Given the description of an element on the screen output the (x, y) to click on. 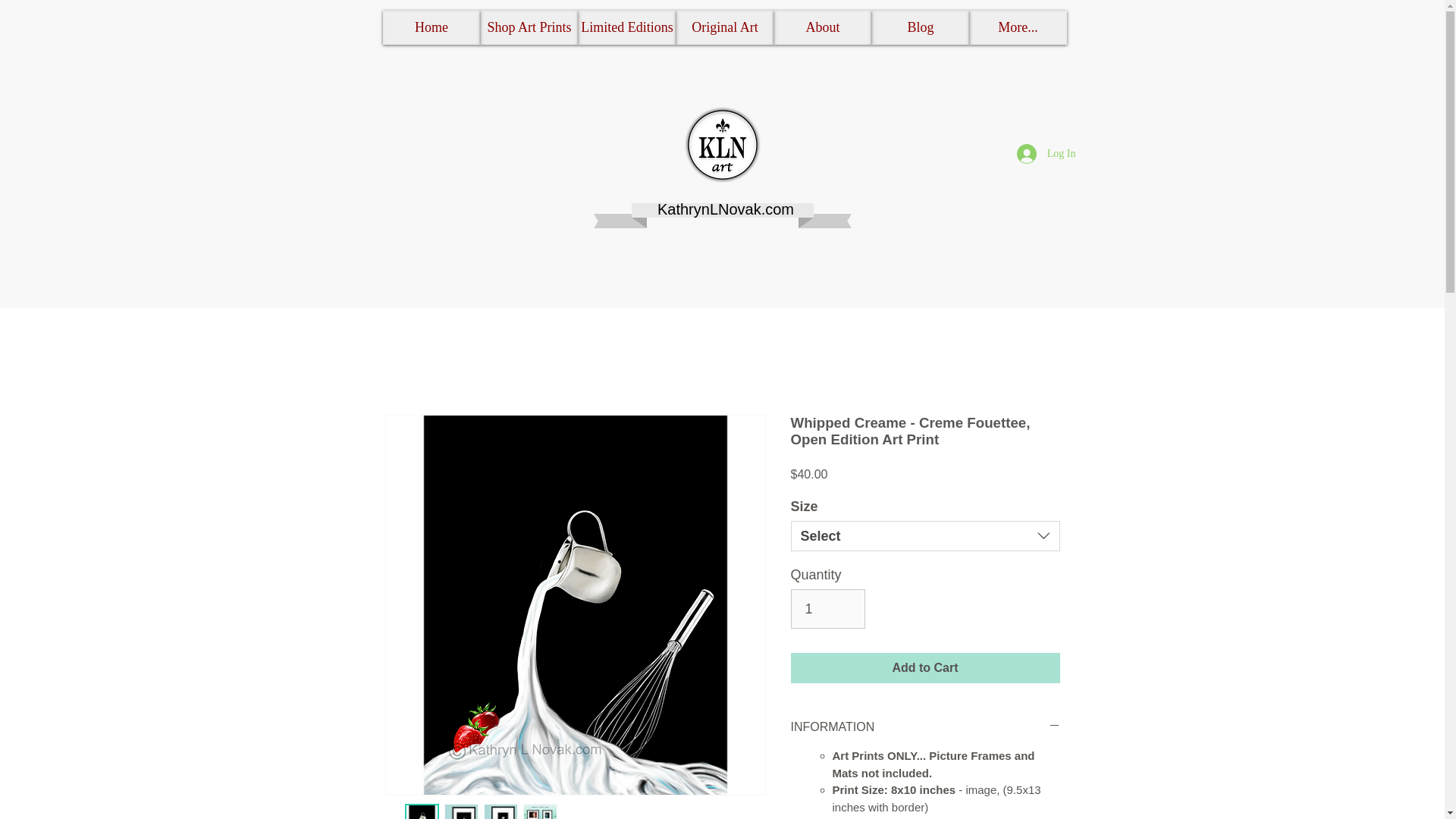
KathrynLNovak.com (725, 208)
Add to Cart (924, 667)
About (821, 27)
Original Art (725, 27)
Shop Art Prints (529, 27)
Log In (1046, 153)
Limited Editions (626, 27)
Select (924, 535)
Home (430, 27)
INFORMATION (924, 726)
1 (827, 608)
Blog (920, 27)
